Given the description of an element on the screen output the (x, y) to click on. 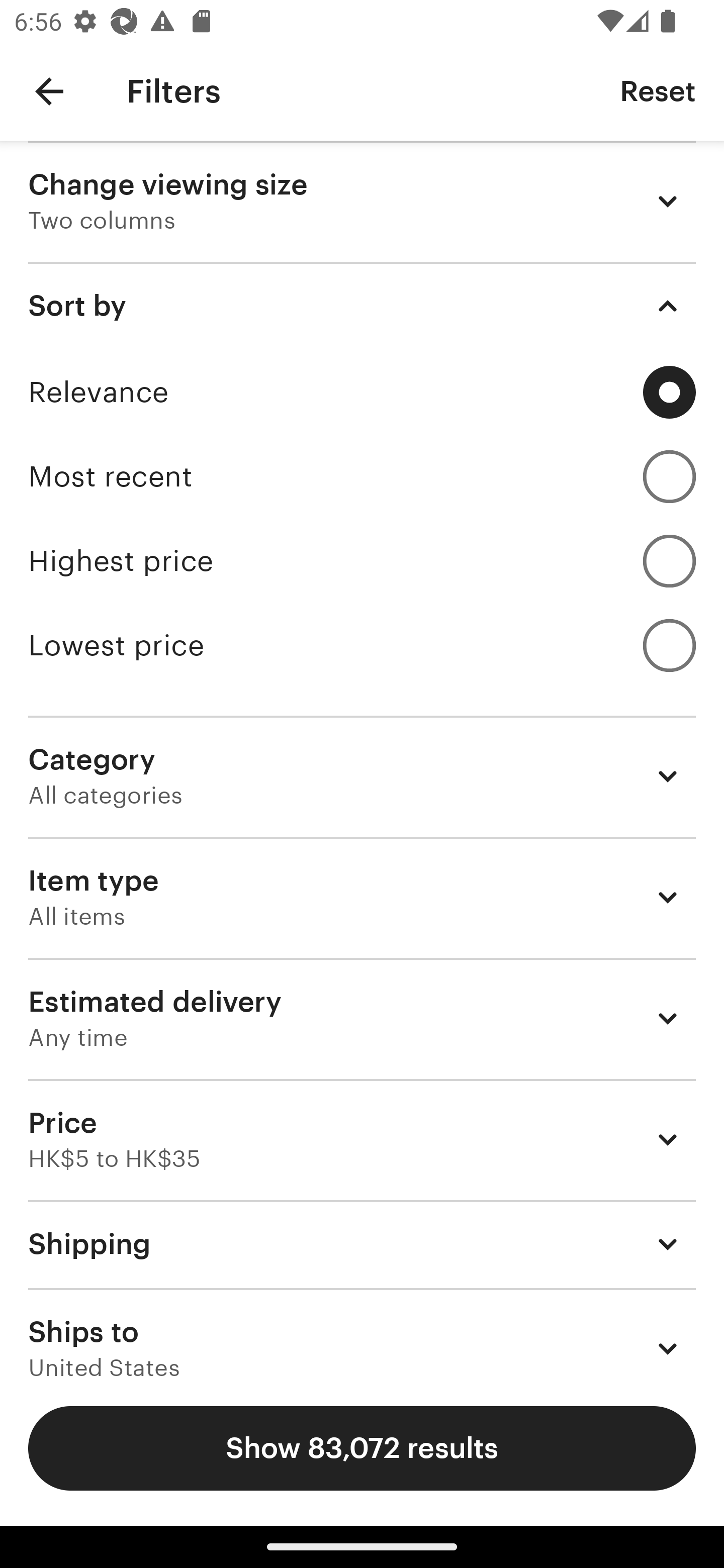
Navigate up (49, 91)
Reset (657, 90)
Change viewing size Two columns (362, 201)
Sort by (362, 305)
Relevance (362, 391)
Most recent (362, 476)
Highest price (362, 561)
Lowest price (362, 644)
Category All categories (362, 776)
Item type All items (362, 897)
Estimated delivery Any time (362, 1018)
Price HK$5 to HK$35 (362, 1138)
Shipping (362, 1243)
Ships to United States (362, 1332)
Show 83,072 results Show results (361, 1448)
